Given the description of an element on the screen output the (x, y) to click on. 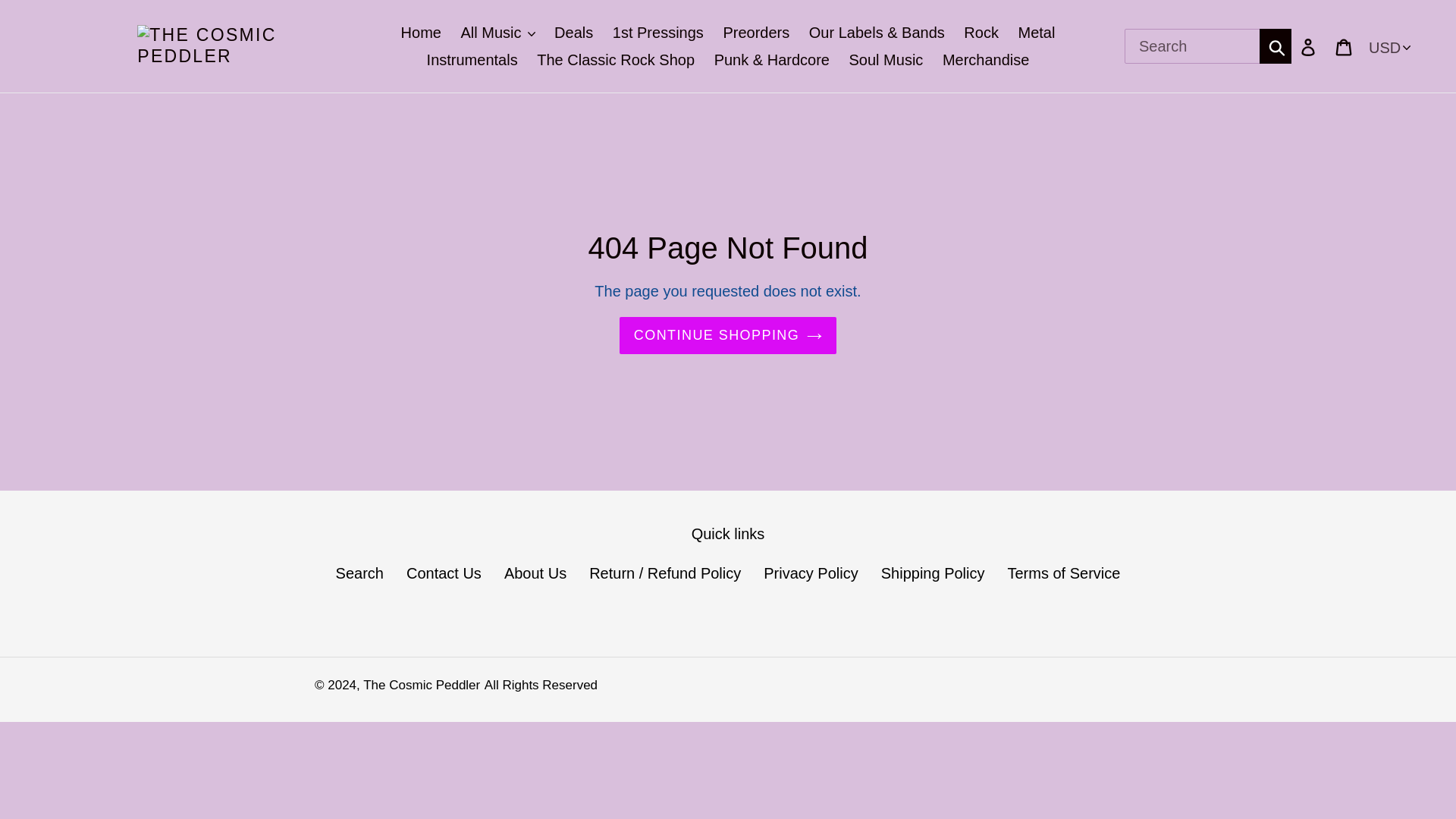
Home (420, 31)
Submit (1275, 45)
Merchandise (985, 59)
Rock (981, 31)
The Classic Rock Shop (615, 59)
Log in (1308, 46)
1st Pressings (658, 31)
Cart (1344, 46)
Deals (573, 31)
Metal (1036, 31)
Soul Music (886, 59)
Instrumentals (472, 59)
Preorders (755, 31)
